Given the description of an element on the screen output the (x, y) to click on. 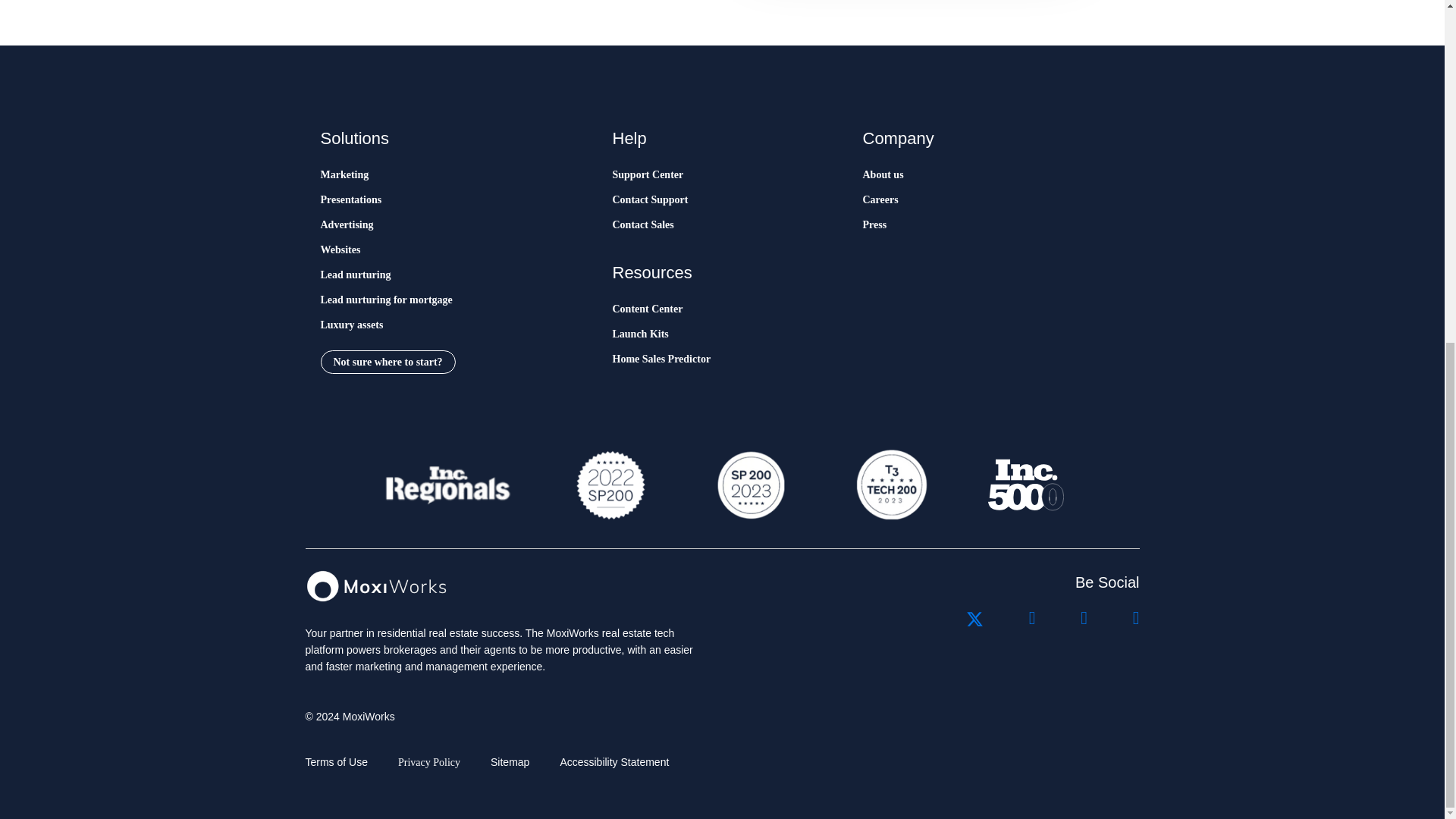
T3 tech 200 2023 (890, 484)
SP 2023 (749, 484)
SP 2022 (610, 484)
